Given the description of an element on the screen output the (x, y) to click on. 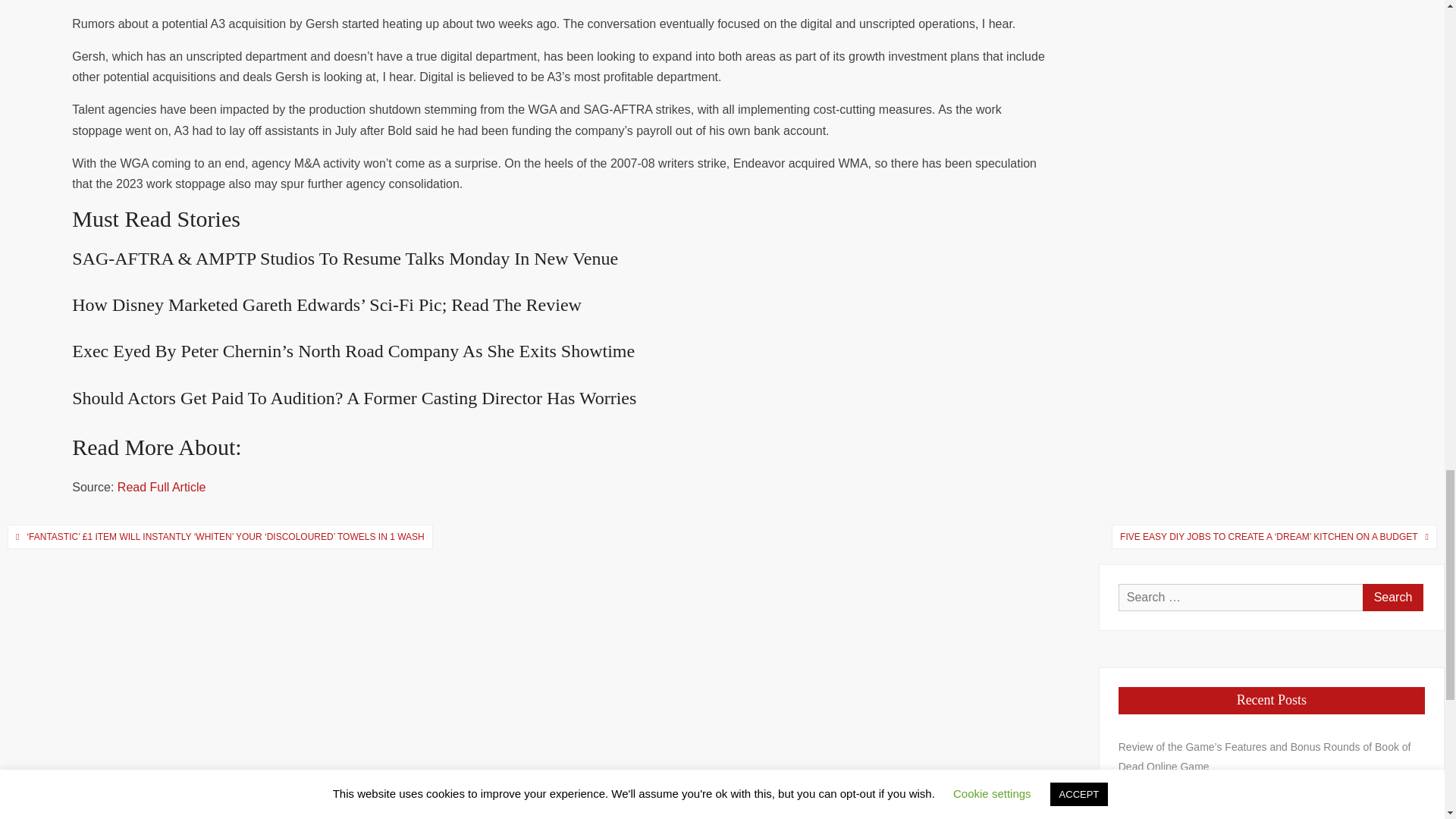
Search (1392, 596)
Search (1392, 596)
